Given the description of an element on the screen output the (x, y) to click on. 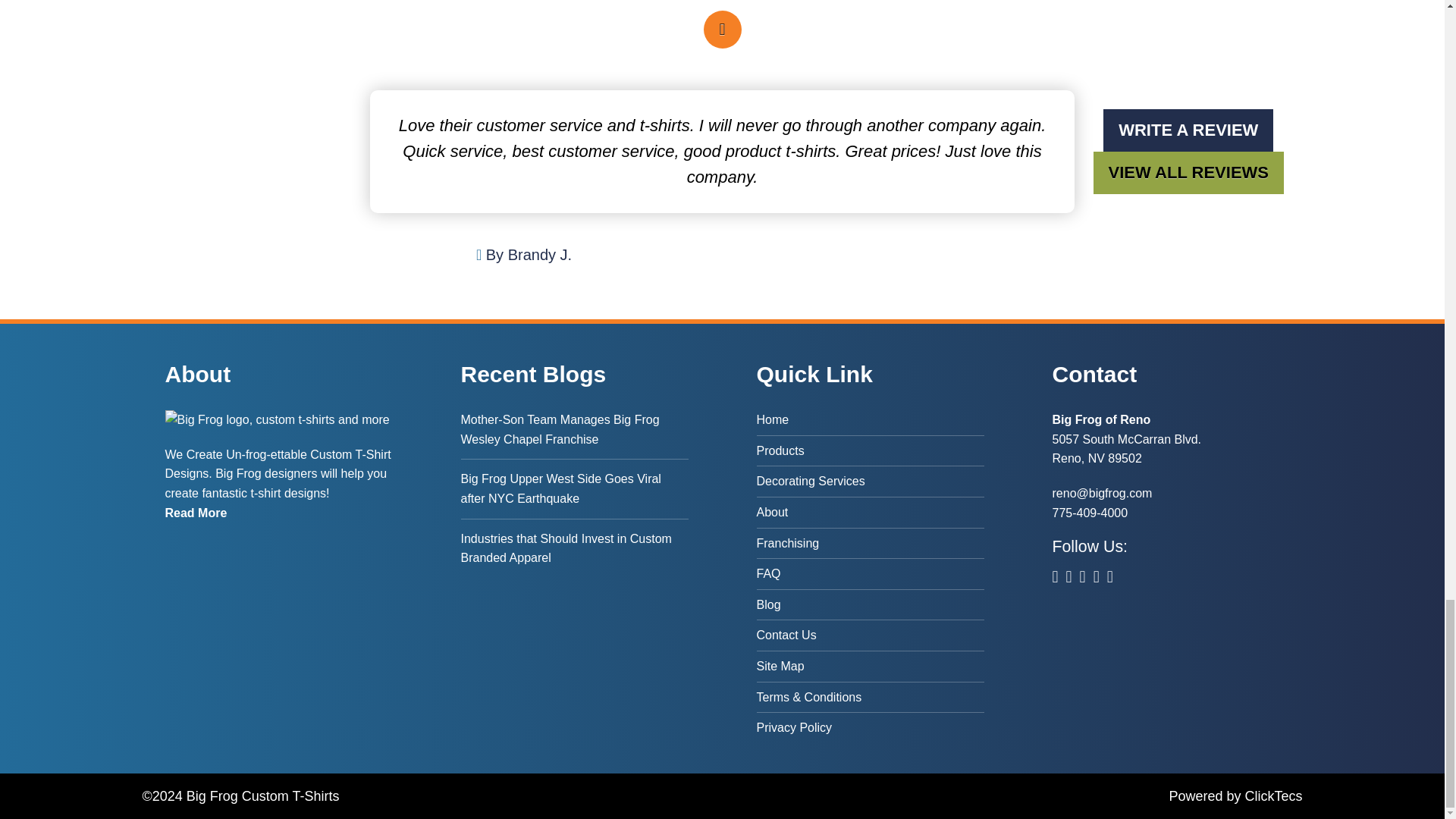
Industries that Should Invest in Custom Branded Apparel (574, 548)
Read More (196, 512)
Home (870, 422)
VIEW ALL REVIEWS (1188, 172)
Franchising (870, 543)
Big Frog Upper West Side Goes Viral after NYC Earthquake (574, 488)
About (870, 512)
Mother-Son Team Manages Big Frog Wesley Chapel Franchise (574, 434)
Products (870, 450)
ClickTecs - Creativity with Expertise (1272, 795)
WRITE A REVIEW (1187, 129)
Decorating Services (870, 481)
